Given the description of an element on the screen output the (x, y) to click on. 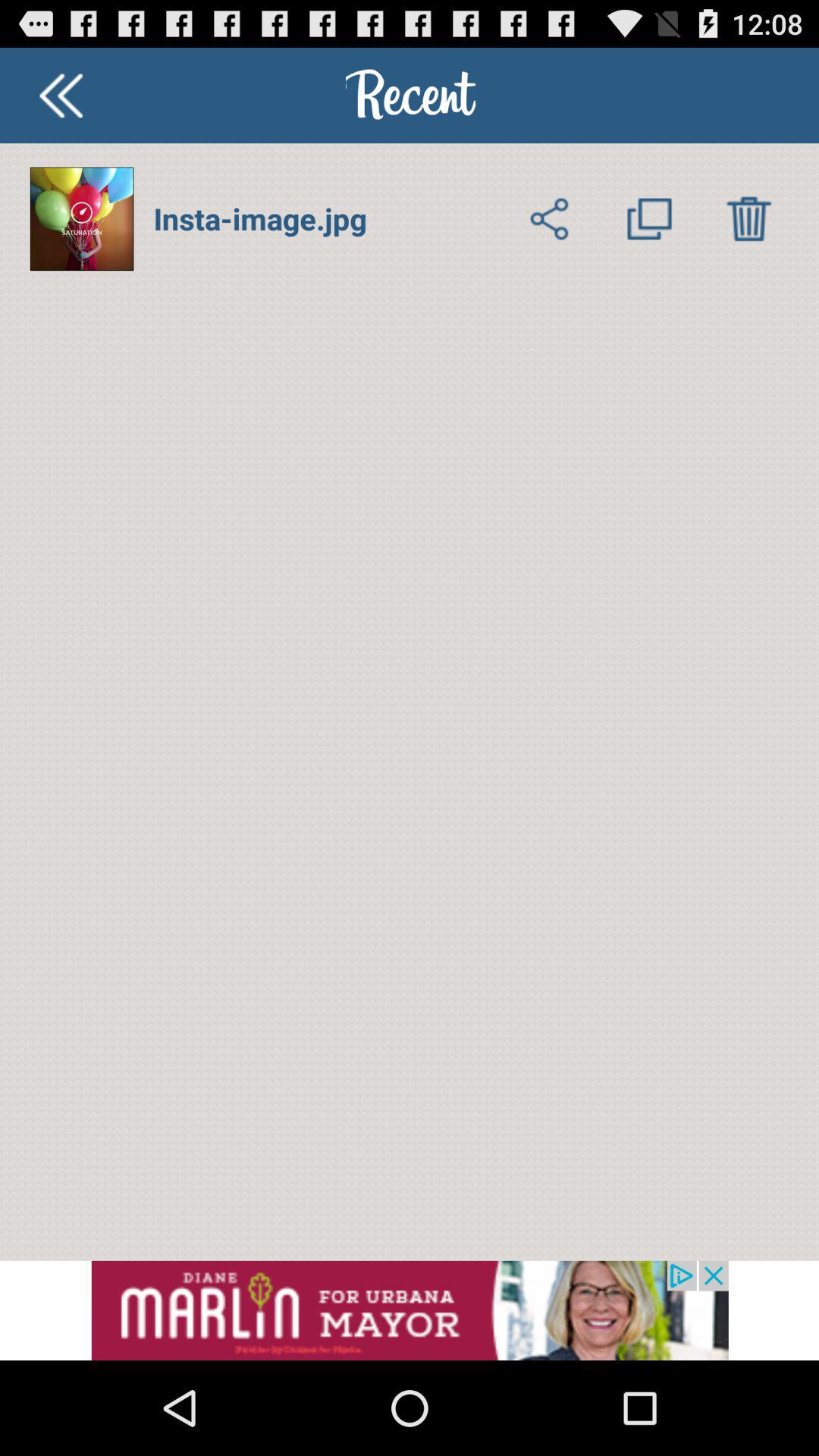
select multiple images (649, 218)
